Given the description of an element on the screen output the (x, y) to click on. 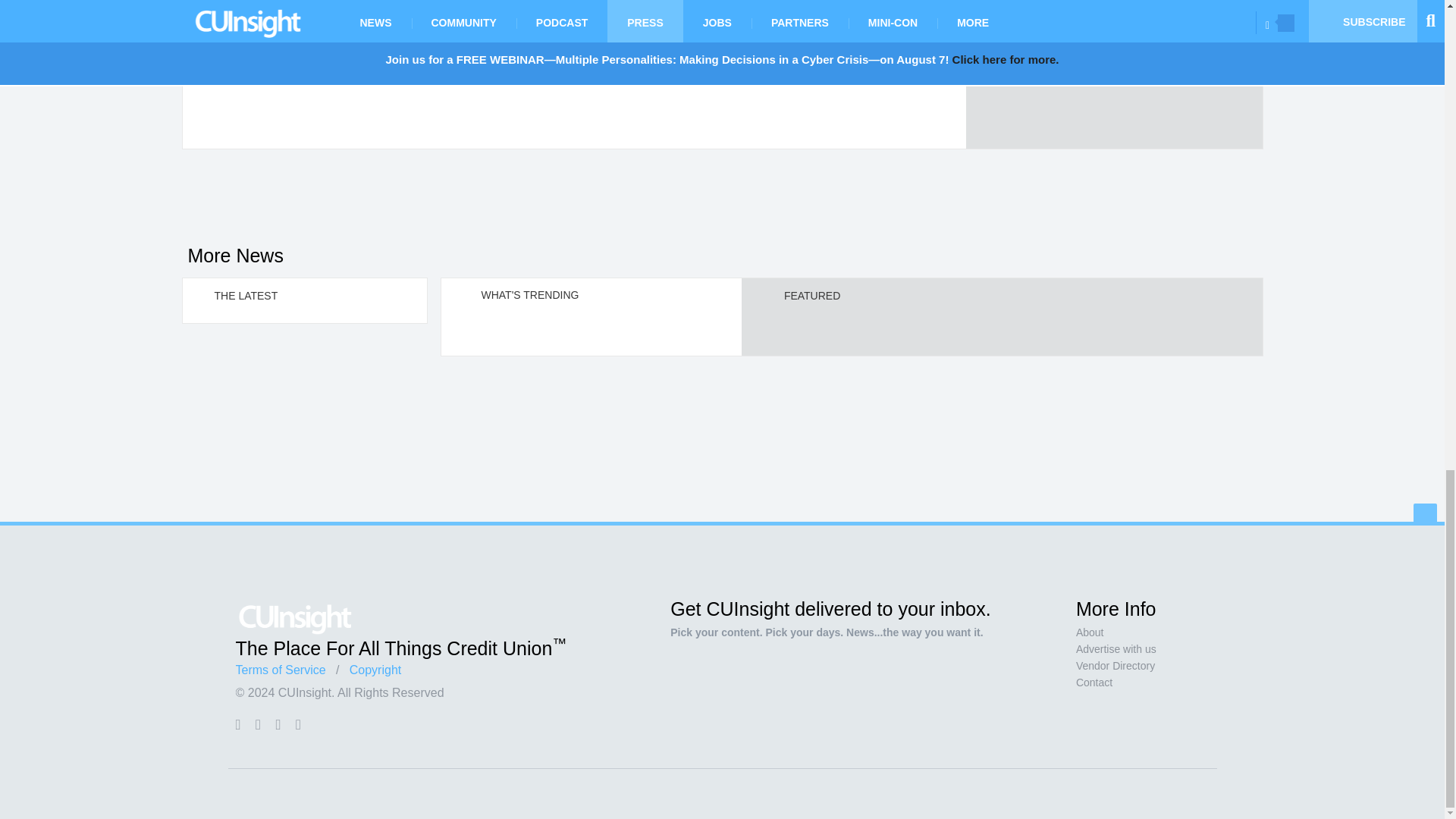
linkedin (278, 724)
twitter (258, 724)
Facebook (237, 724)
instagram (298, 724)
